Given the description of an element on the screen output the (x, y) to click on. 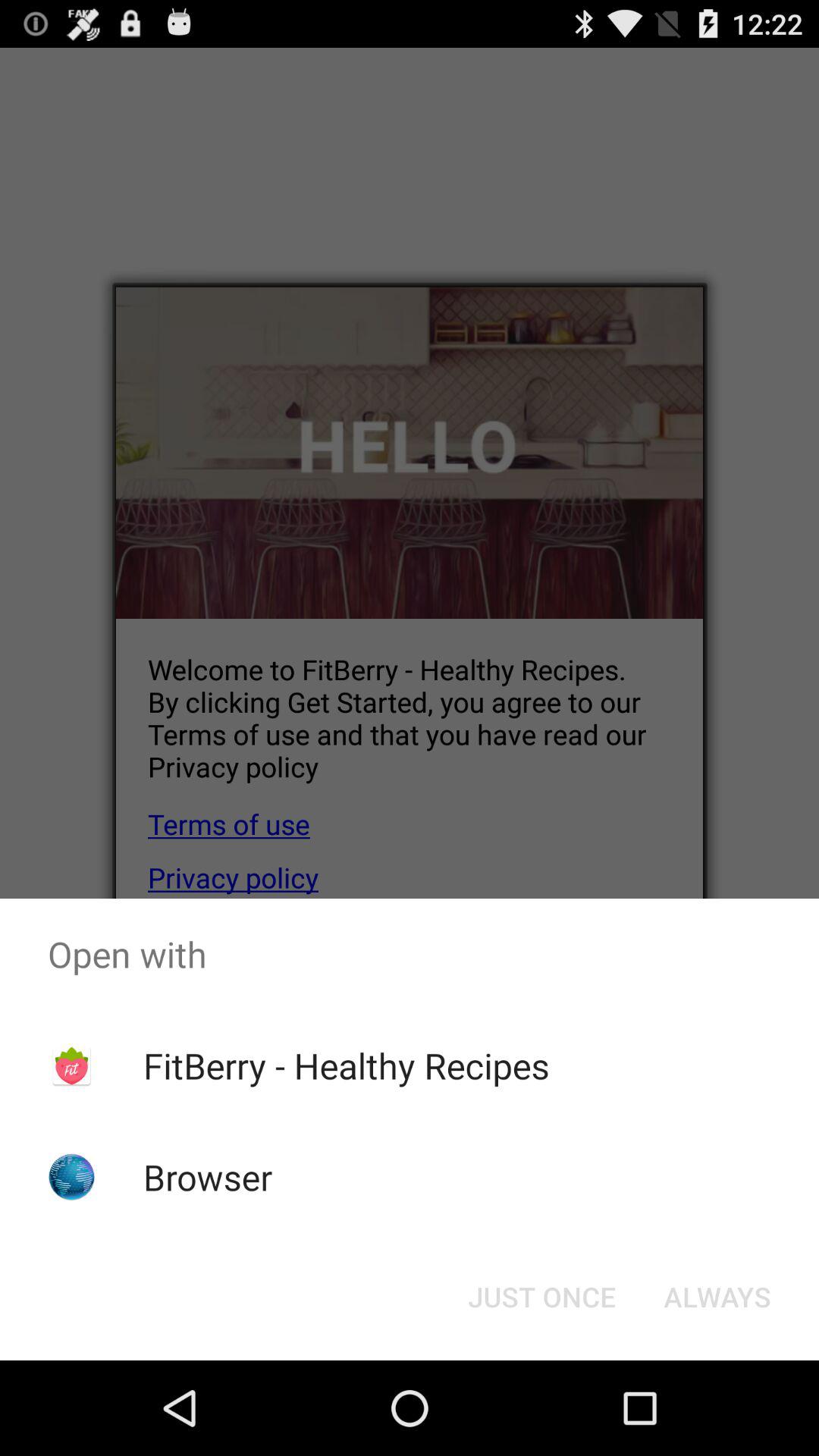
scroll to always (717, 1296)
